Given the description of an element on the screen output the (x, y) to click on. 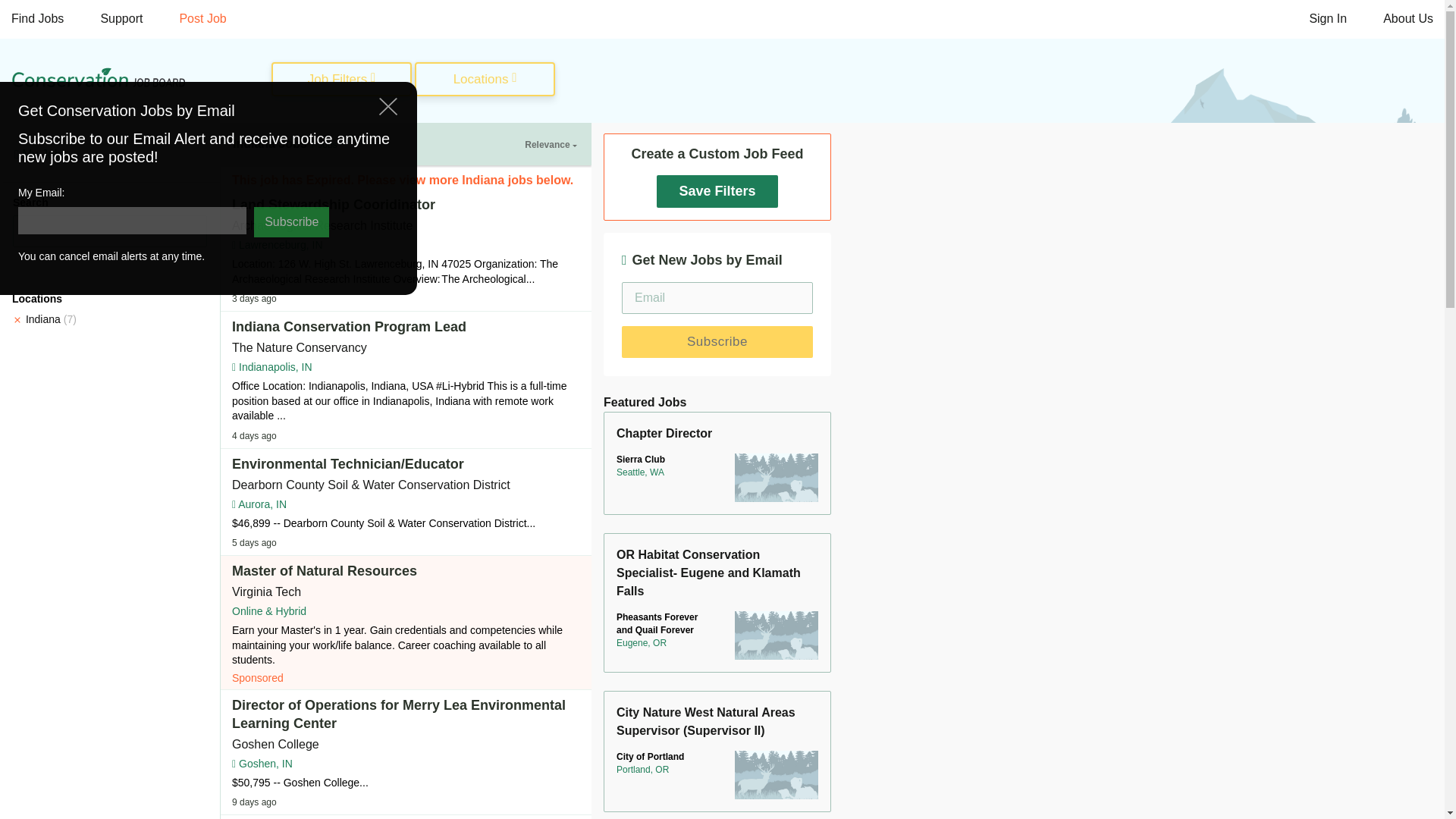
Locations (484, 79)
Job Filters (341, 79)
Post Job (202, 19)
Find Jobs (37, 19)
About Us (1408, 19)
Sign In (1327, 19)
Support (121, 19)
